Given the description of an element on the screen output the (x, y) to click on. 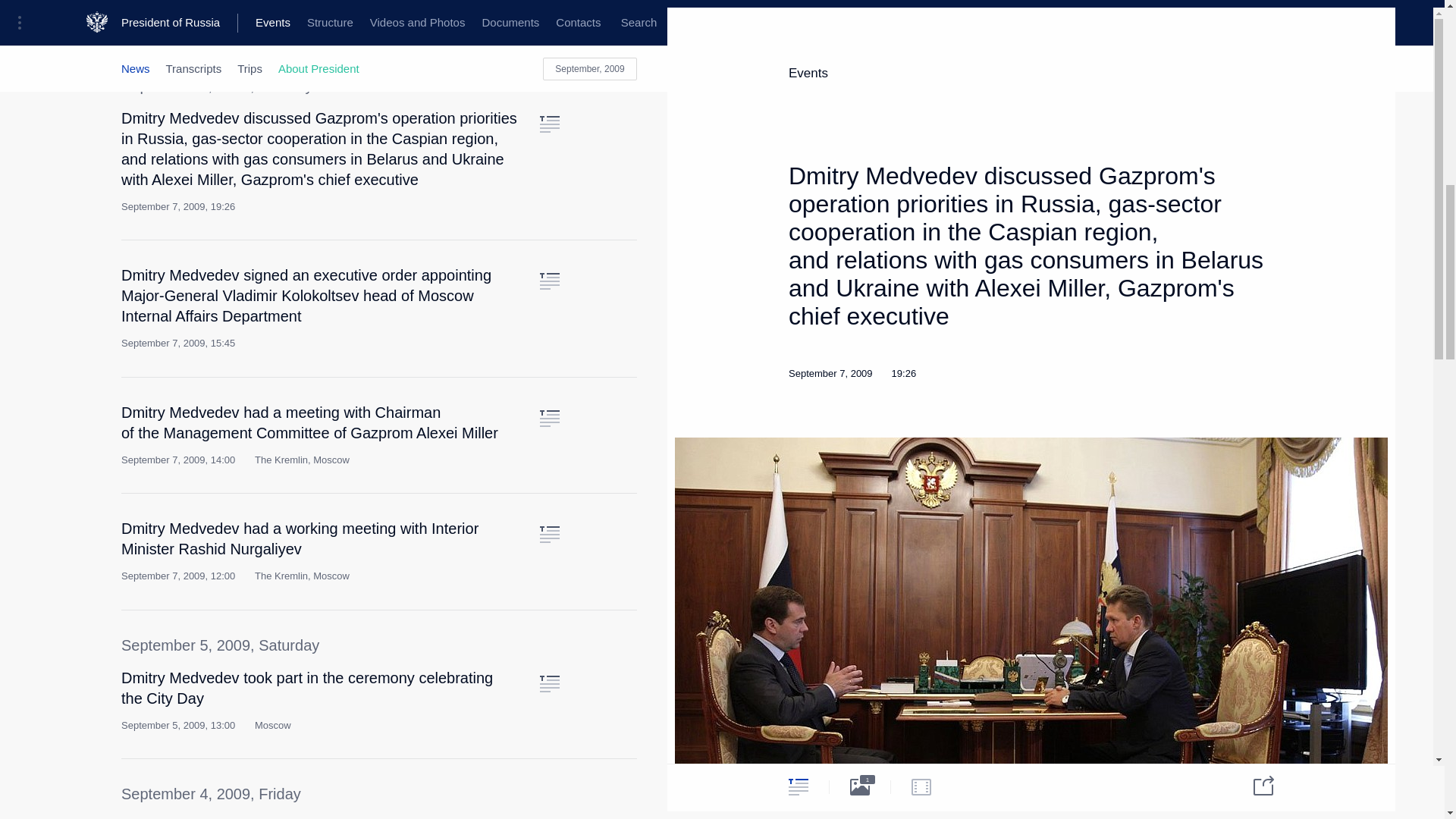
Text of the article (549, 534)
Text of the article (549, 280)
Text of the article (549, 124)
Text of the article (549, 683)
Text of the article (549, 418)
